Given the description of an element on the screen output the (x, y) to click on. 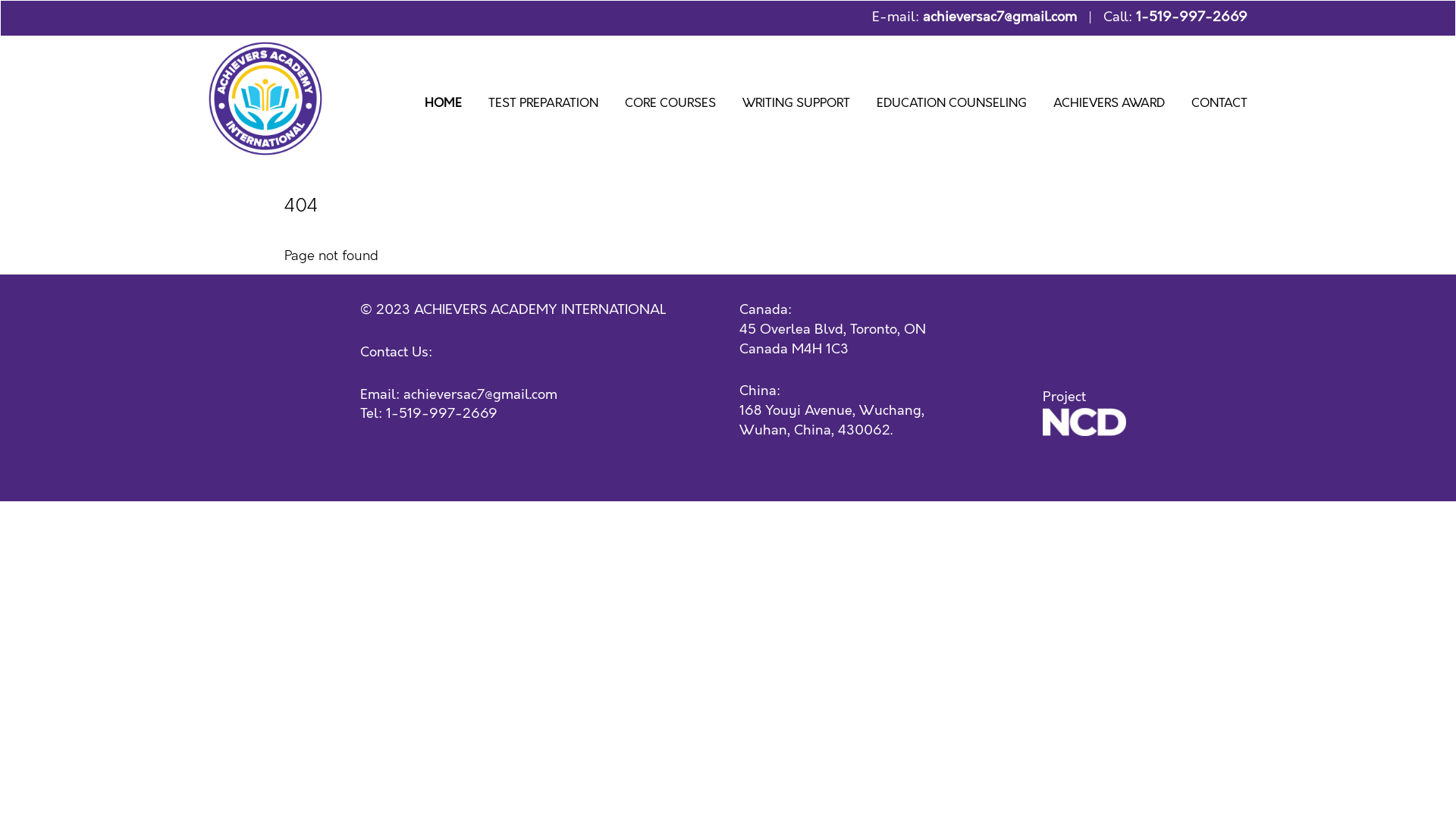
achieversac7@gmail.com Element type: text (480, 394)
WRITING SUPPORT Element type: text (796, 105)
HOME Element type: text (442, 105)
EDUCATION COUNSELING Element type: text (951, 105)
CORE COURSES Element type: text (669, 105)
TEST PREPARATION Element type: text (543, 105)
1-519-997-2669 Element type: text (1191, 17)
CONTACT Element type: text (1219, 105)
achieversac7@gmail.com Element type: text (999, 17)
1-519-997-2669 Element type: text (441, 413)
ACHIEVERS AWARD Element type: text (1108, 105)
